Given the description of an element on the screen output the (x, y) to click on. 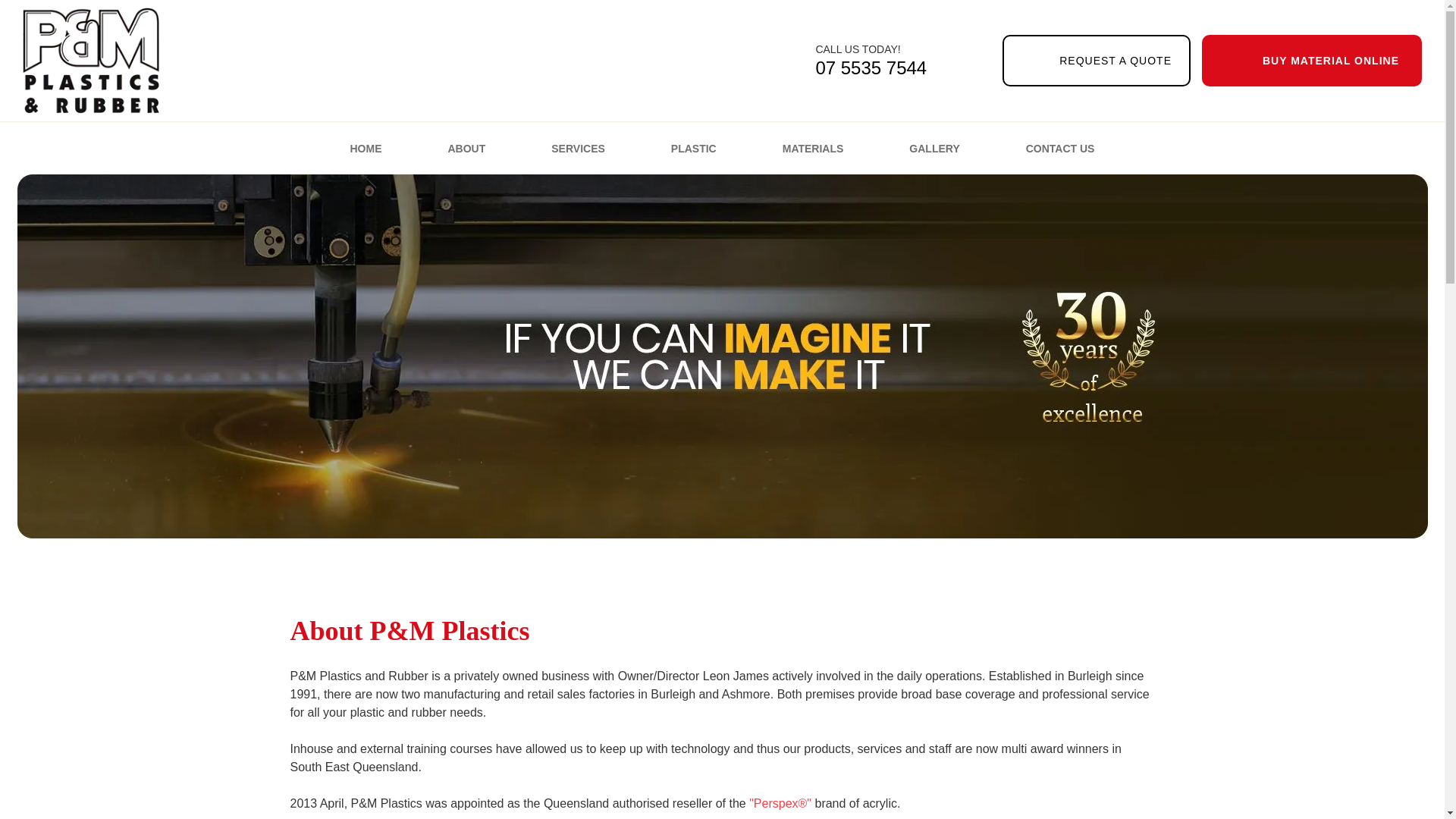
Buy material online (1312, 60)
Call us (840, 60)
SERVICES (577, 148)
REQUEST A QUOTE (1097, 60)
MATERIALS (812, 148)
Request a quote (1097, 60)
BUY MATERIAL ONLINE (840, 60)
